Given the description of an element on the screen output the (x, y) to click on. 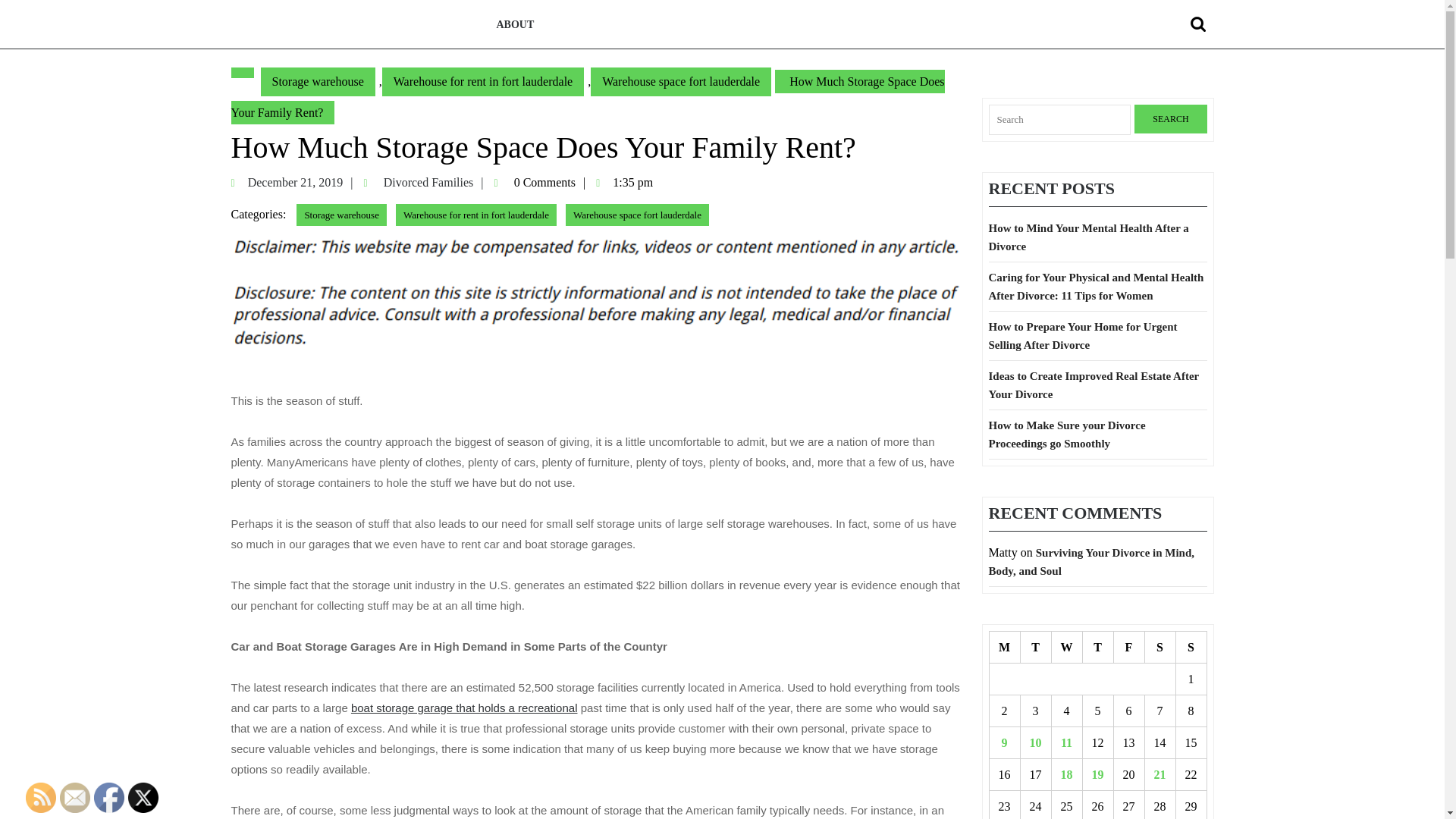
Search (1200, 23)
Search (1170, 118)
Storage warehouse (342, 214)
Ideas to Create Improved Real Estate After Your Divorce (1093, 385)
Facebook (108, 797)
Monday (1004, 647)
10 (1035, 742)
Saturday (1160, 647)
18 (1066, 774)
9 (1003, 742)
Friday (1128, 647)
Search (1170, 118)
boat storage garage that holds a recreational (434, 182)
Warehouse space fort lauderdale (464, 707)
